Given the description of an element on the screen output the (x, y) to click on. 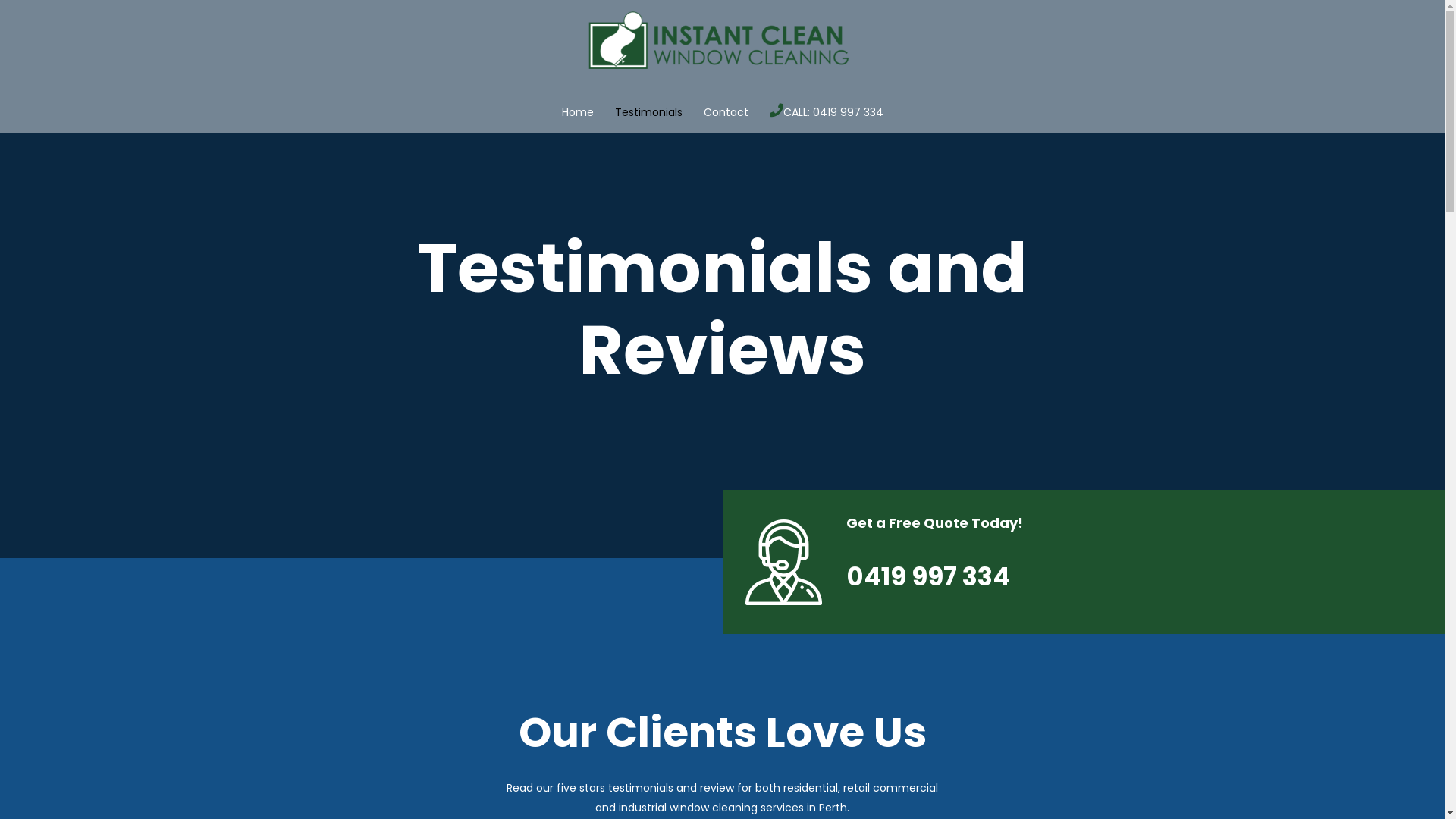
Home Element type: text (576, 111)
CALL: 0419 997 334 Element type: text (832, 112)
Contact Element type: text (726, 111)
0419 997 334 Element type: text (928, 576)
Testimonials Element type: text (647, 111)
